Given the description of an element on the screen output the (x, y) to click on. 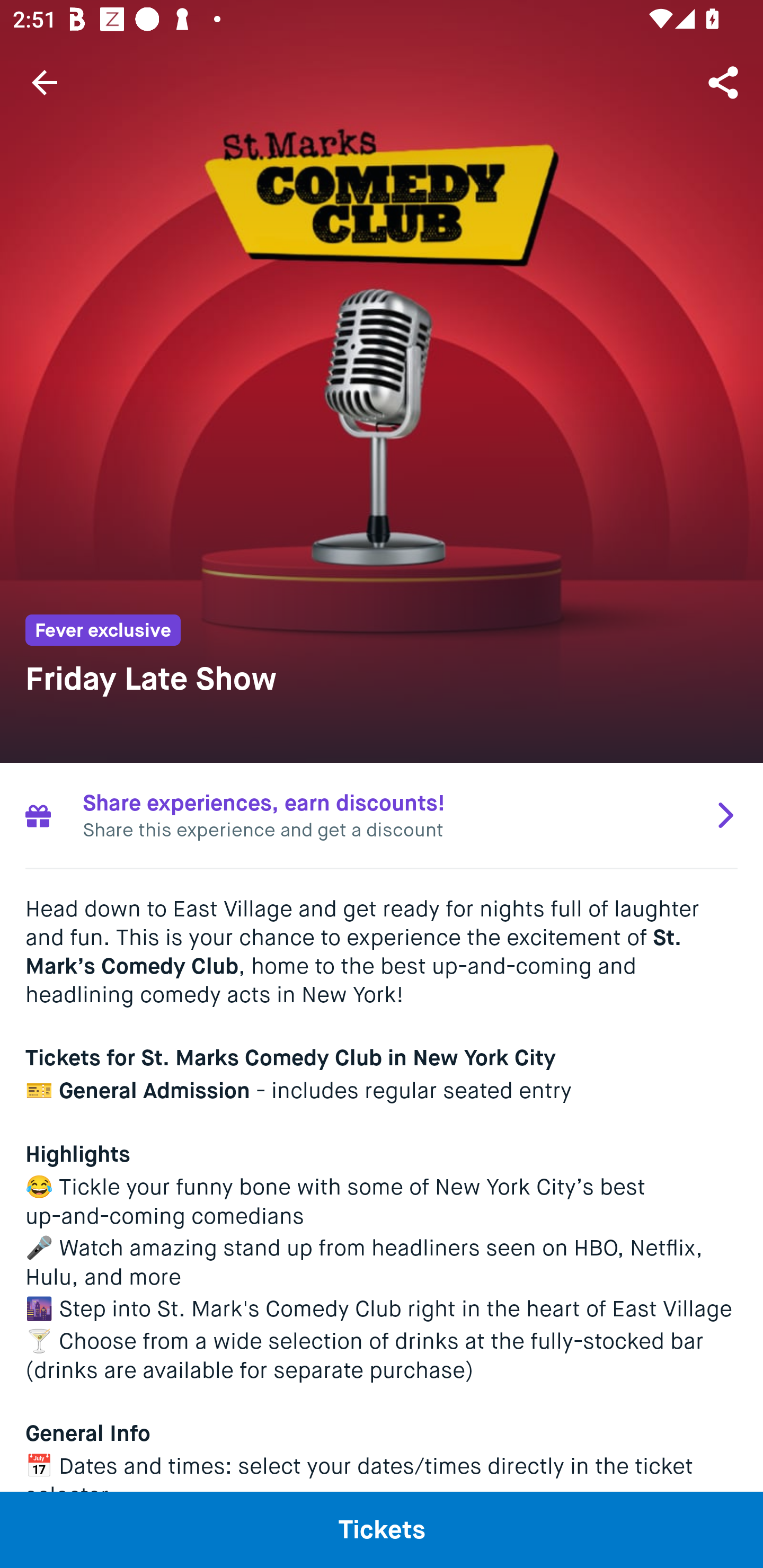
Navigate up (44, 82)
Share (724, 81)
Tickets (381, 1529)
